Given the description of an element on the screen output the (x, y) to click on. 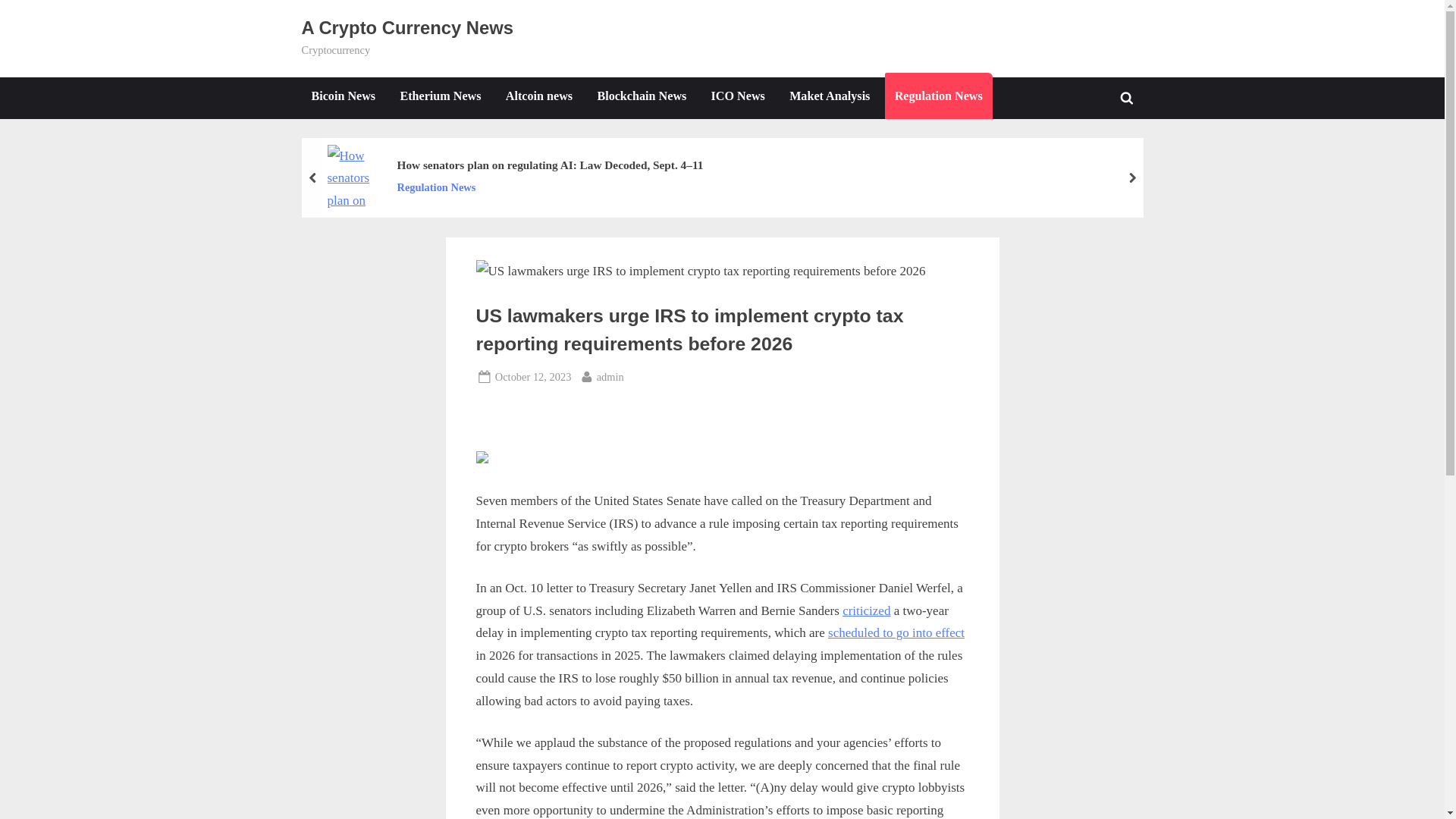
Toggle search form (1126, 97)
Bicoin News (343, 97)
Regulation News (549, 187)
A Crypto Currency News (407, 27)
ICO News (737, 97)
Blockchain News (640, 97)
Etherium News (440, 97)
Maket Analysis (533, 376)
Regulation News (828, 97)
Altcoin news (610, 376)
